Given the description of an element on the screen output the (x, y) to click on. 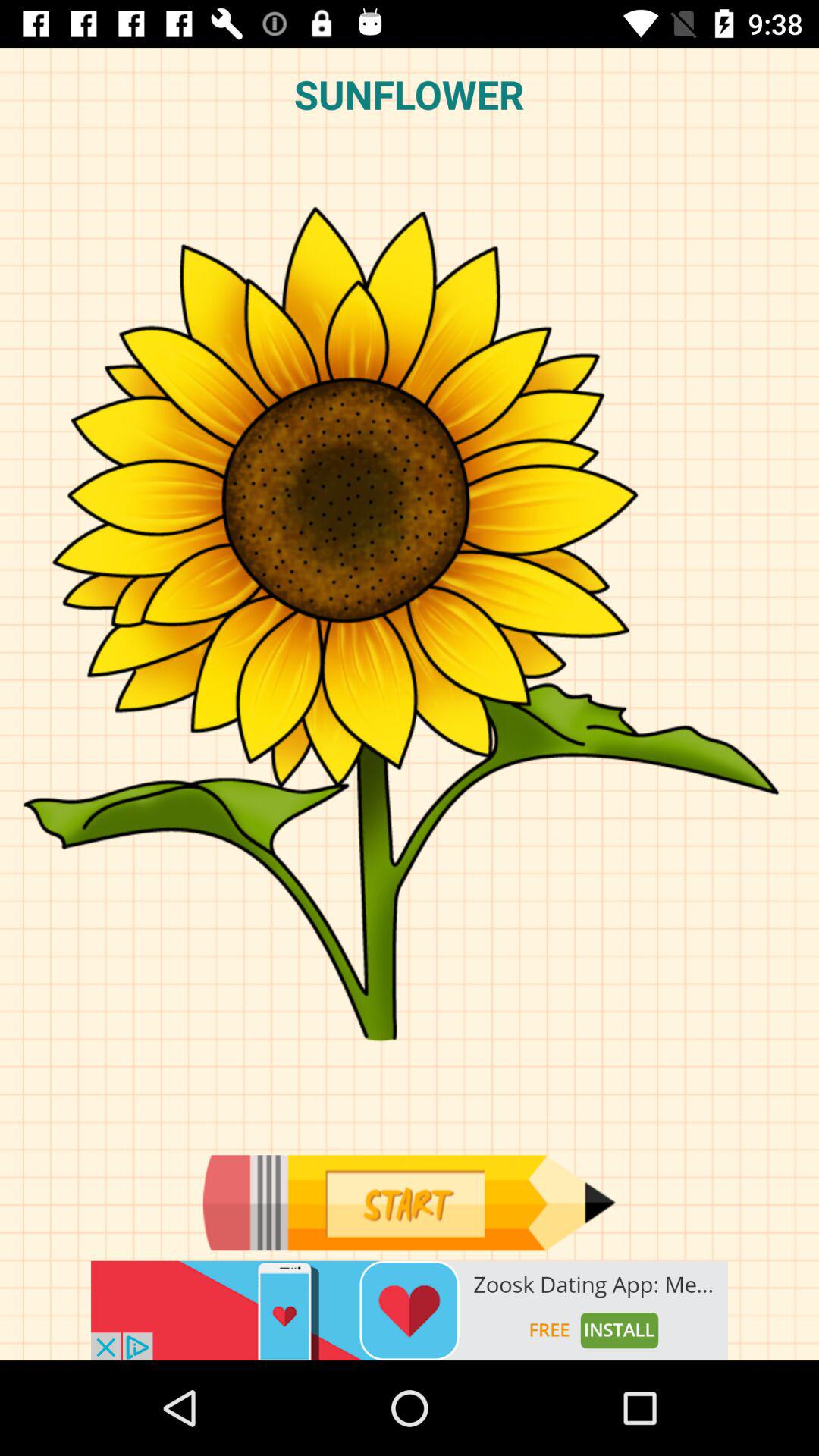
advertisement (409, 1310)
